Given the description of an element on the screen output the (x, y) to click on. 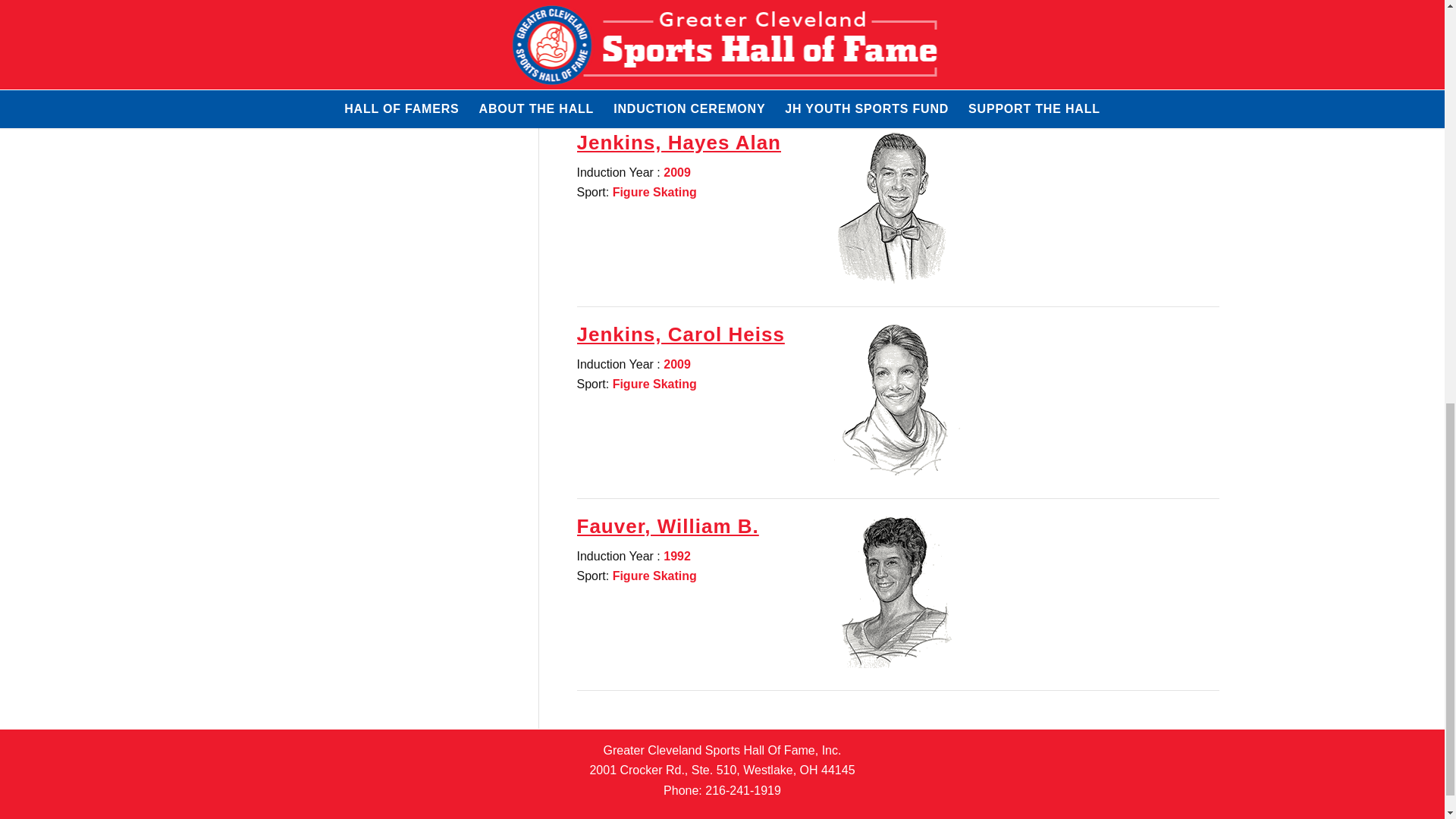
Permanent Link: Jenkins, Hayes Alan (678, 142)
Permanent Link: Fauver, William B. (667, 526)
Permanent Link: Jenkins, Carol Heiss (680, 333)
